Given the description of an element on the screen output the (x, y) to click on. 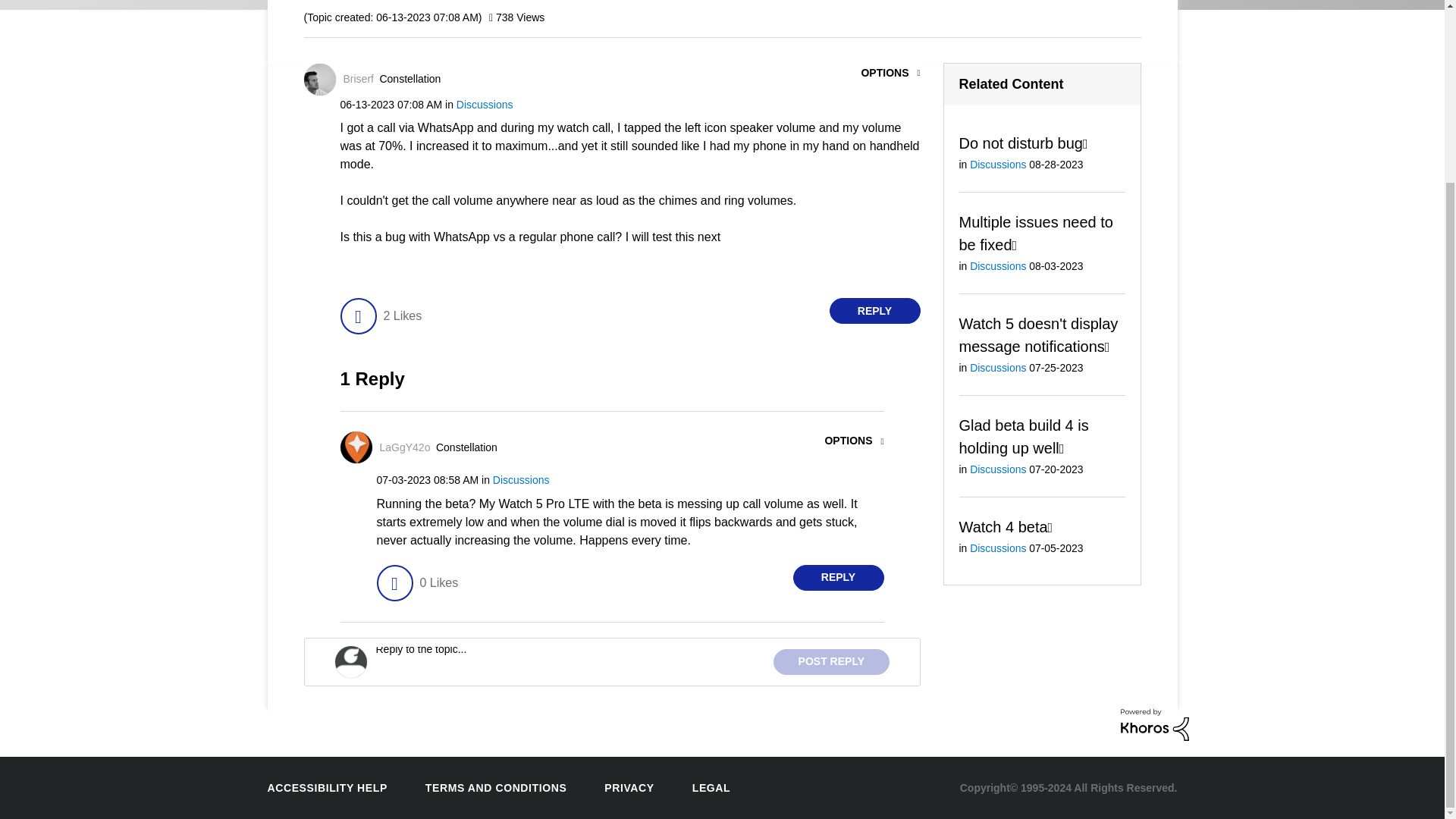
Briserf (357, 78)
Discussions (485, 104)
2 Likes (401, 316)
REPLY (874, 310)
